Given the description of an element on the screen output the (x, y) to click on. 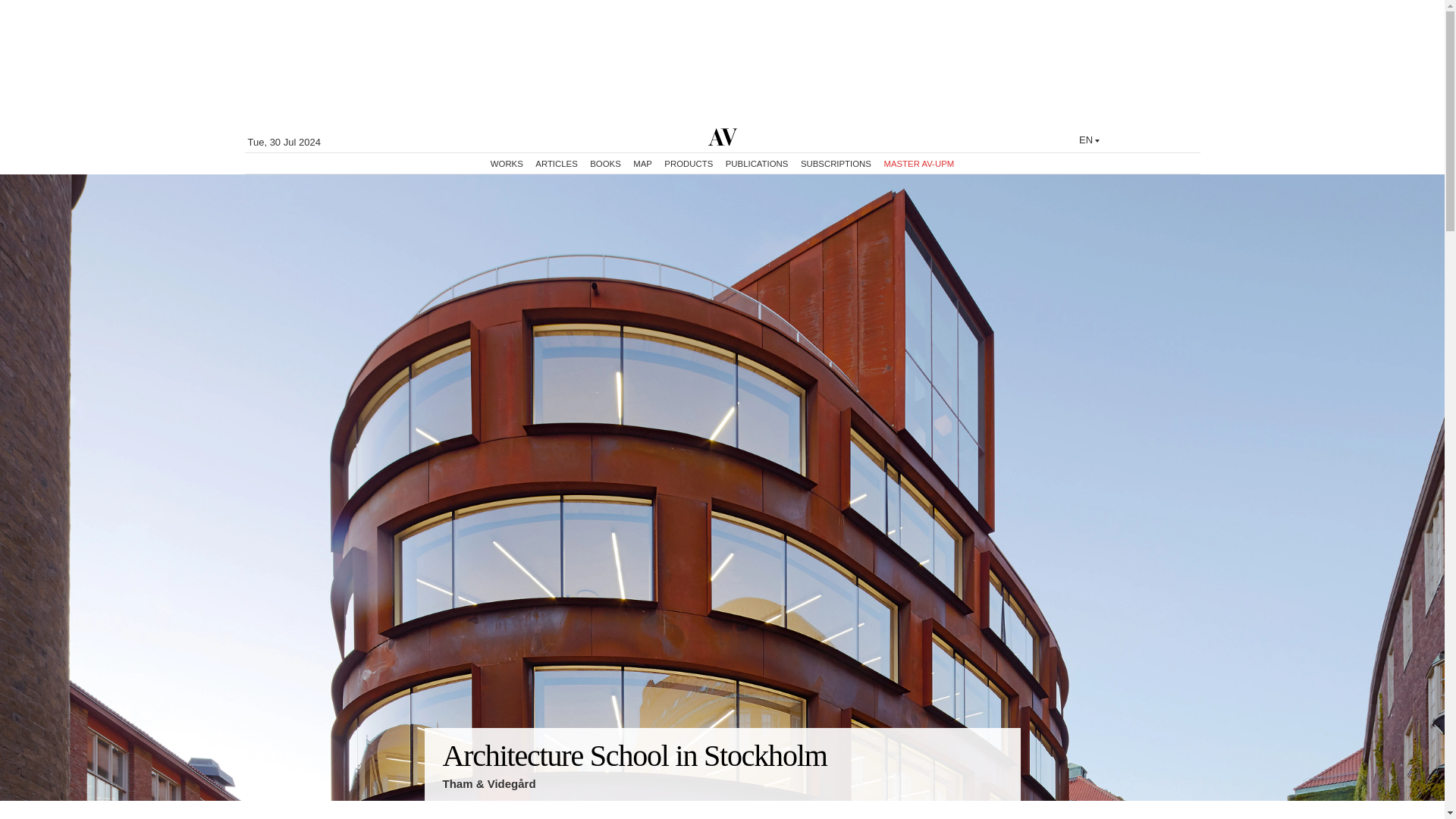
Share this on Whatsapp (1002, 797)
Add to favoites (978, 797)
Share this on Facebook (995, 797)
Share this on Pinterest (984, 797)
Share this on Twitter (989, 797)
